Given the description of an element on the screen output the (x, y) to click on. 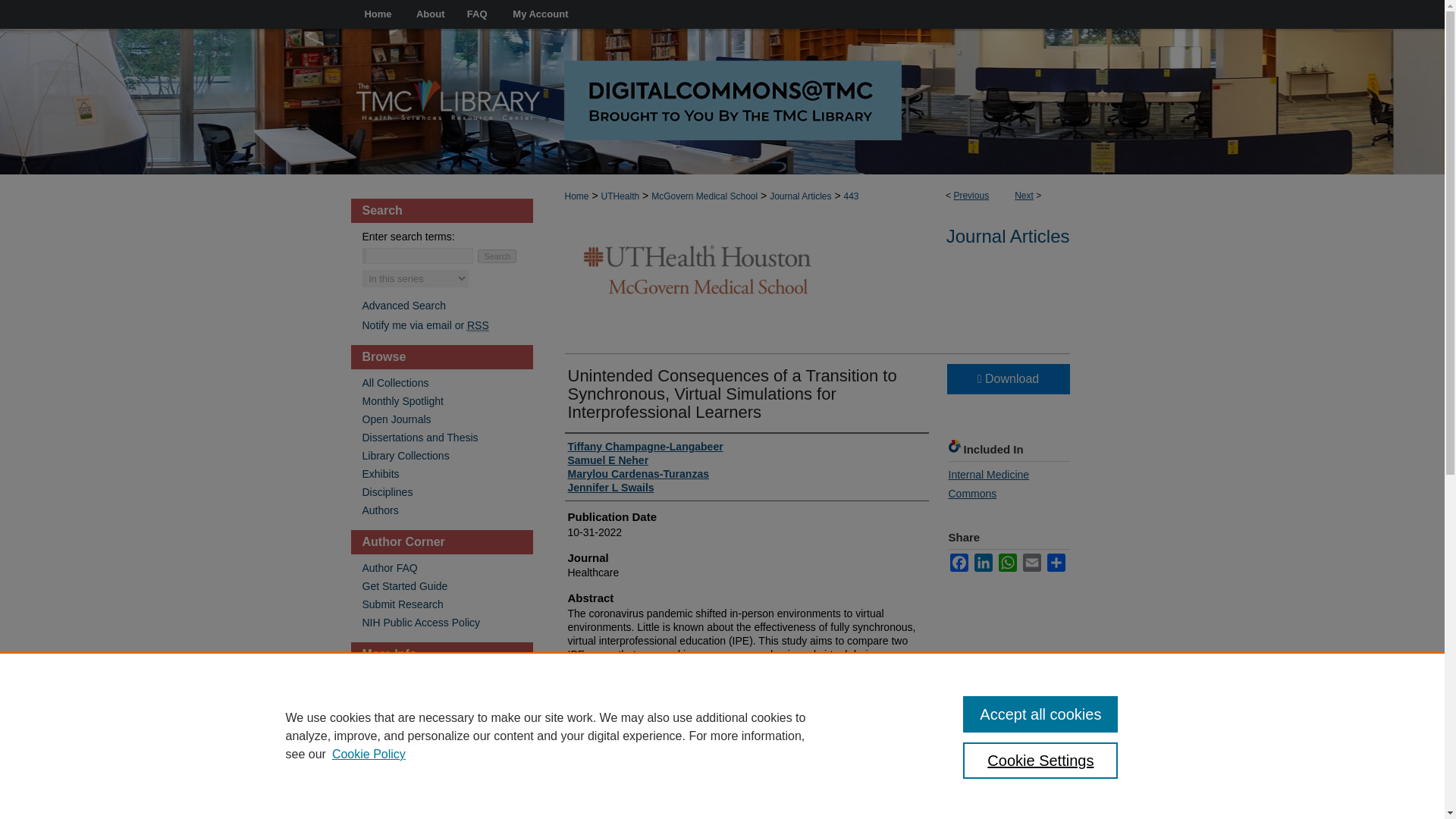
About (430, 14)
Share (1055, 562)
Search (496, 255)
Tiffany Champagne-Langabeer (644, 446)
WhatsApp (1006, 562)
Next (1023, 195)
About (430, 14)
Samuel E Neher (607, 459)
Home (377, 14)
My Account (539, 14)
My Account (539, 14)
Search (496, 255)
FAQ (477, 14)
Marylou Cardenas-Turanzas (637, 473)
Notify me via email or RSS (447, 325)
